Given the description of an element on the screen output the (x, y) to click on. 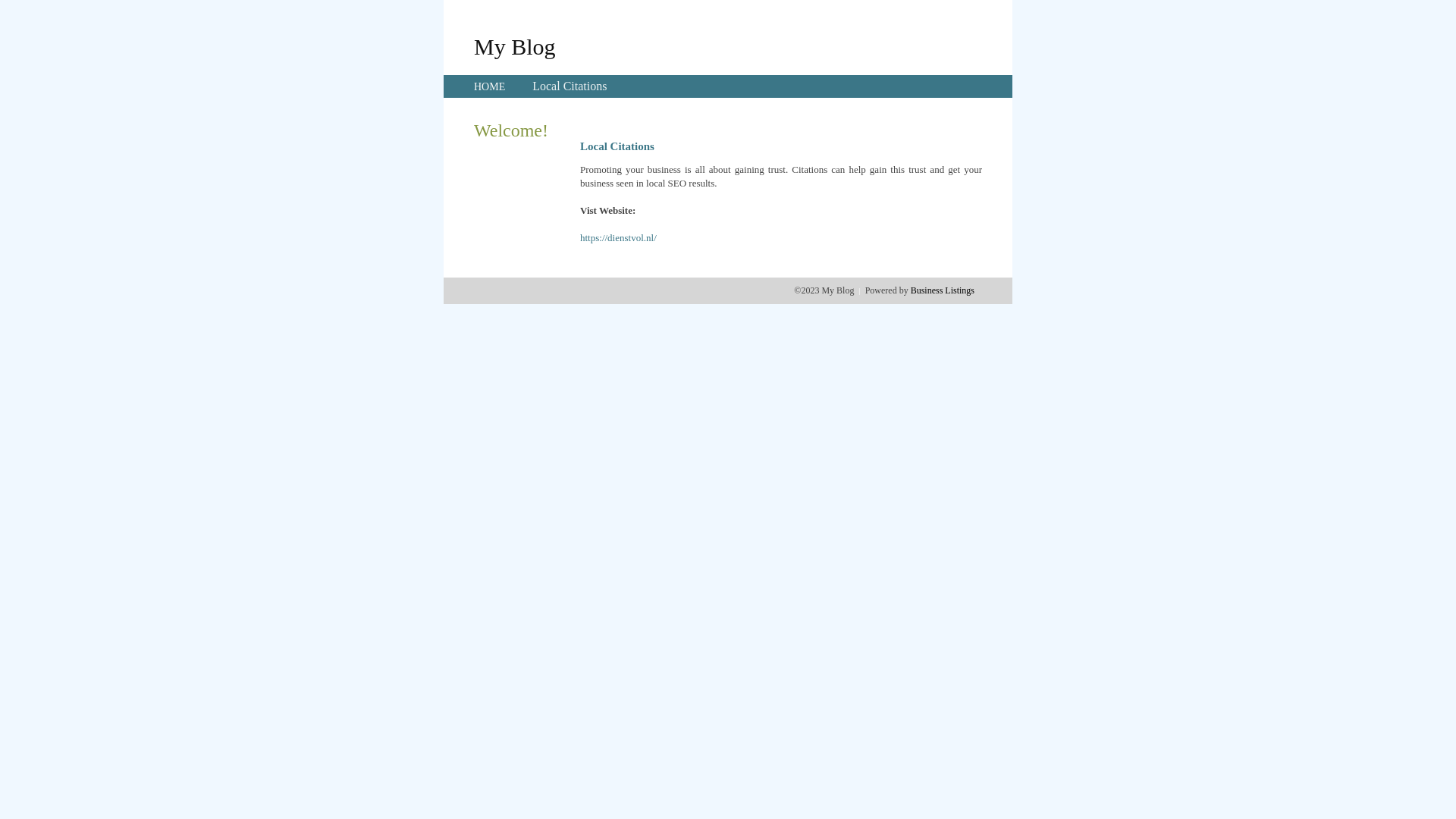
My Blog Element type: text (514, 46)
Local Citations Element type: text (569, 85)
https://dienstvol.nl/ Element type: text (618, 237)
HOME Element type: text (489, 86)
Business Listings Element type: text (942, 290)
